Given the description of an element on the screen output the (x, y) to click on. 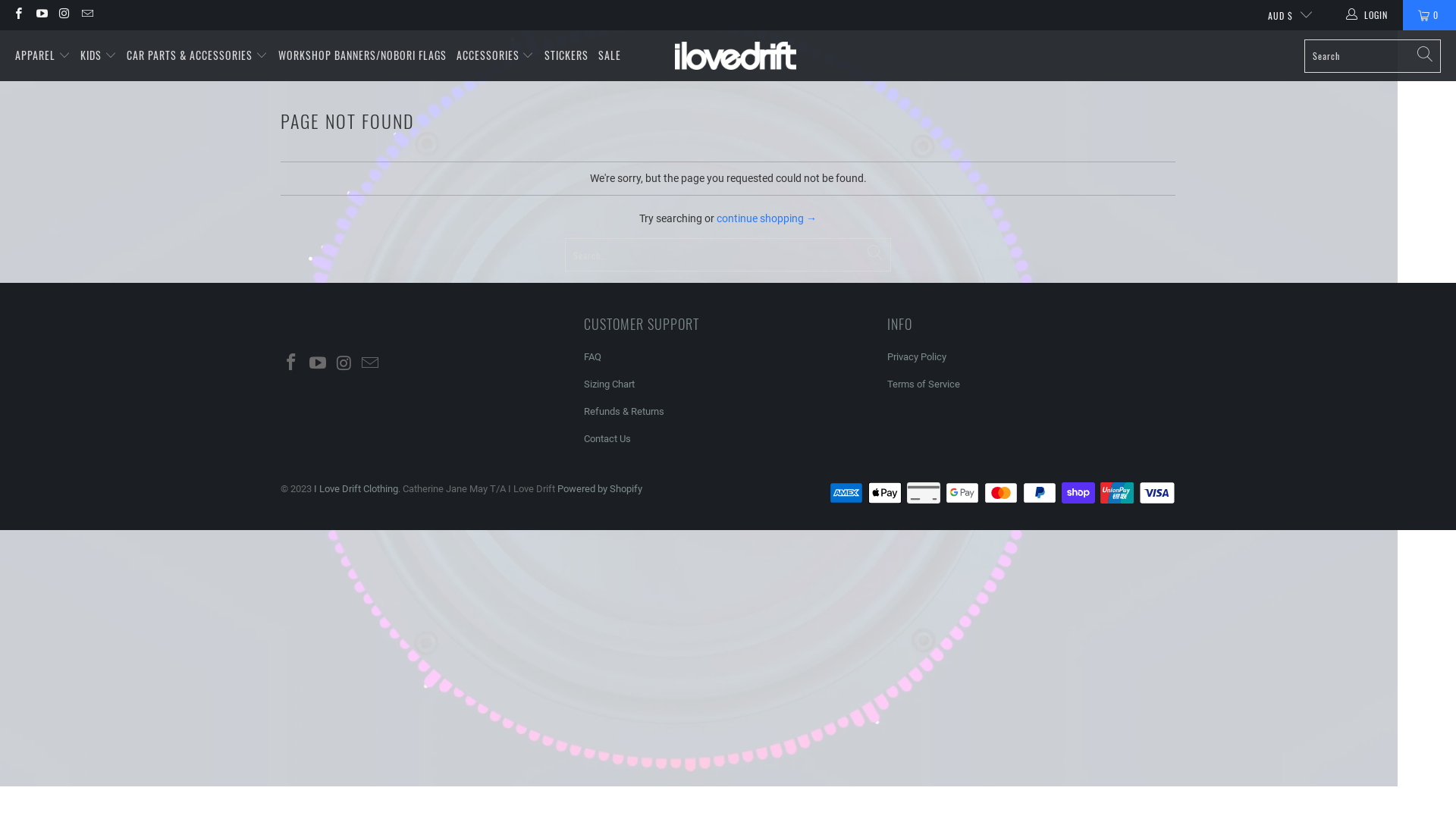
CAR PARTS & ACCESSORIES Element type: text (196, 54)
STICKERS Element type: text (566, 55)
WORKSHOP BANNERS/NOBORI FLAGS Element type: text (362, 55)
KIDS Element type: text (98, 54)
FAQ Element type: text (592, 356)
I Love Drift Clothing on Facebook Element type: hover (291, 363)
AUD $ Element type: text (1283, 15)
Privacy Policy Element type: text (916, 356)
Email I Love Drift Clothing Element type: hover (86, 14)
Terms of Service Element type: text (923, 383)
I Love Drift Clothing on Instagram Element type: hover (63, 14)
I Love Drift Clothing on YouTube Element type: hover (40, 14)
Refunds & Returns Element type: text (623, 411)
I Love Drift Clothing Element type: text (355, 488)
I Love Drift Clothing Element type: hover (735, 55)
Powered by Shopify Element type: text (599, 488)
I Love Drift Clothing on Facebook Element type: hover (17, 14)
SALE Element type: text (609, 55)
I Love Drift Clothing on Instagram Element type: hover (343, 363)
APPAREL Element type: text (42, 54)
Email I Love Drift Clothing Element type: hover (370, 363)
LOGIN Element type: text (1367, 15)
Sizing Chart Element type: text (608, 383)
I Love Drift Clothing on YouTube Element type: hover (318, 363)
ACCESSORIES Element type: text (495, 54)
Contact Us Element type: text (606, 438)
